Given the description of an element on the screen output the (x, y) to click on. 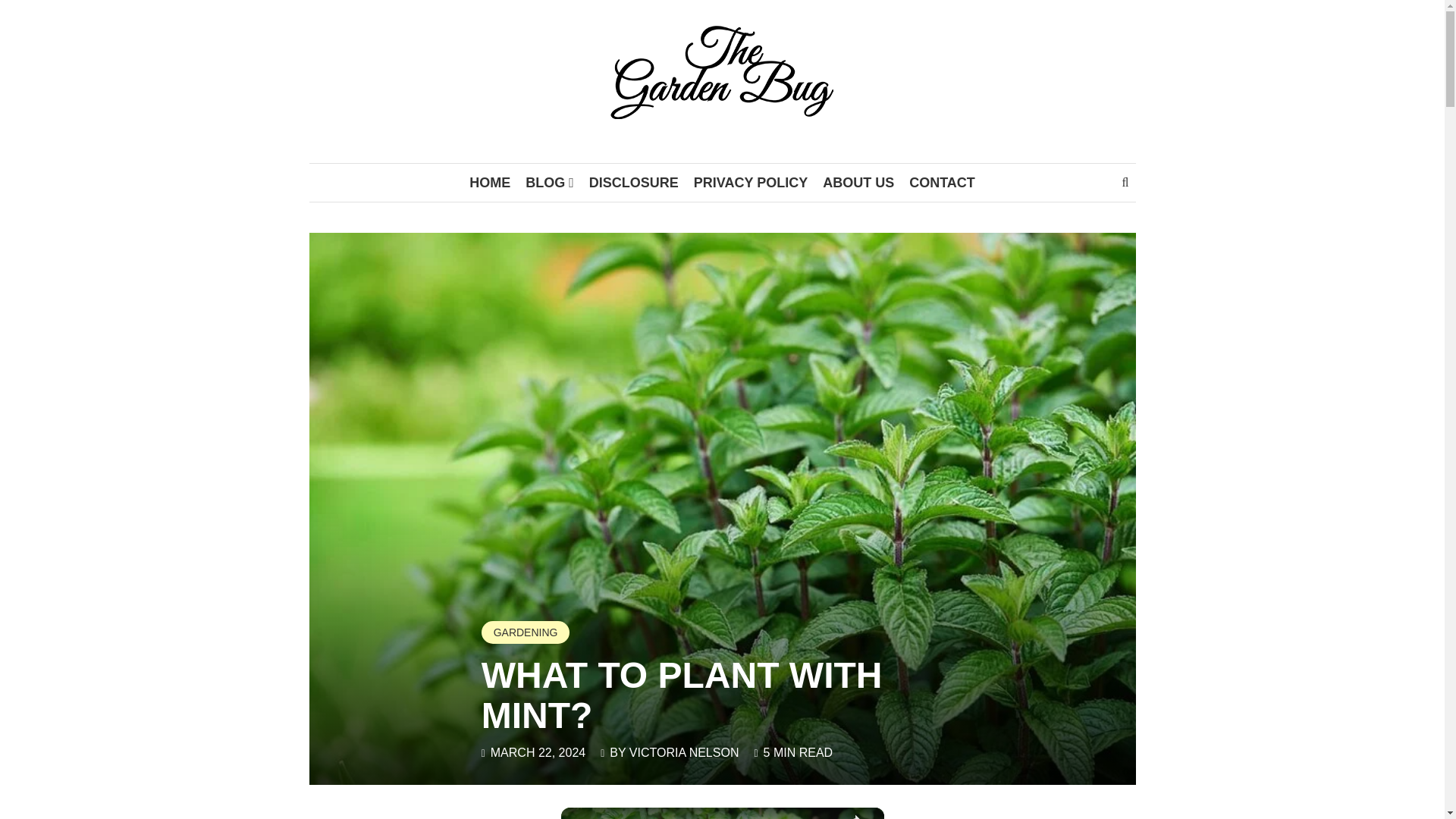
GARDENING (525, 631)
HOME (489, 182)
share (853, 813)
Type here to search... (1120, 181)
DISCLOSURE (632, 182)
ABOUT US (858, 182)
VICTORIA NELSON (683, 752)
PRIVACY POLICY (750, 182)
CONTACT (941, 182)
BLOG (549, 182)
Share (853, 813)
Type here to search... (1120, 181)
